Given the description of an element on the screen output the (x, y) to click on. 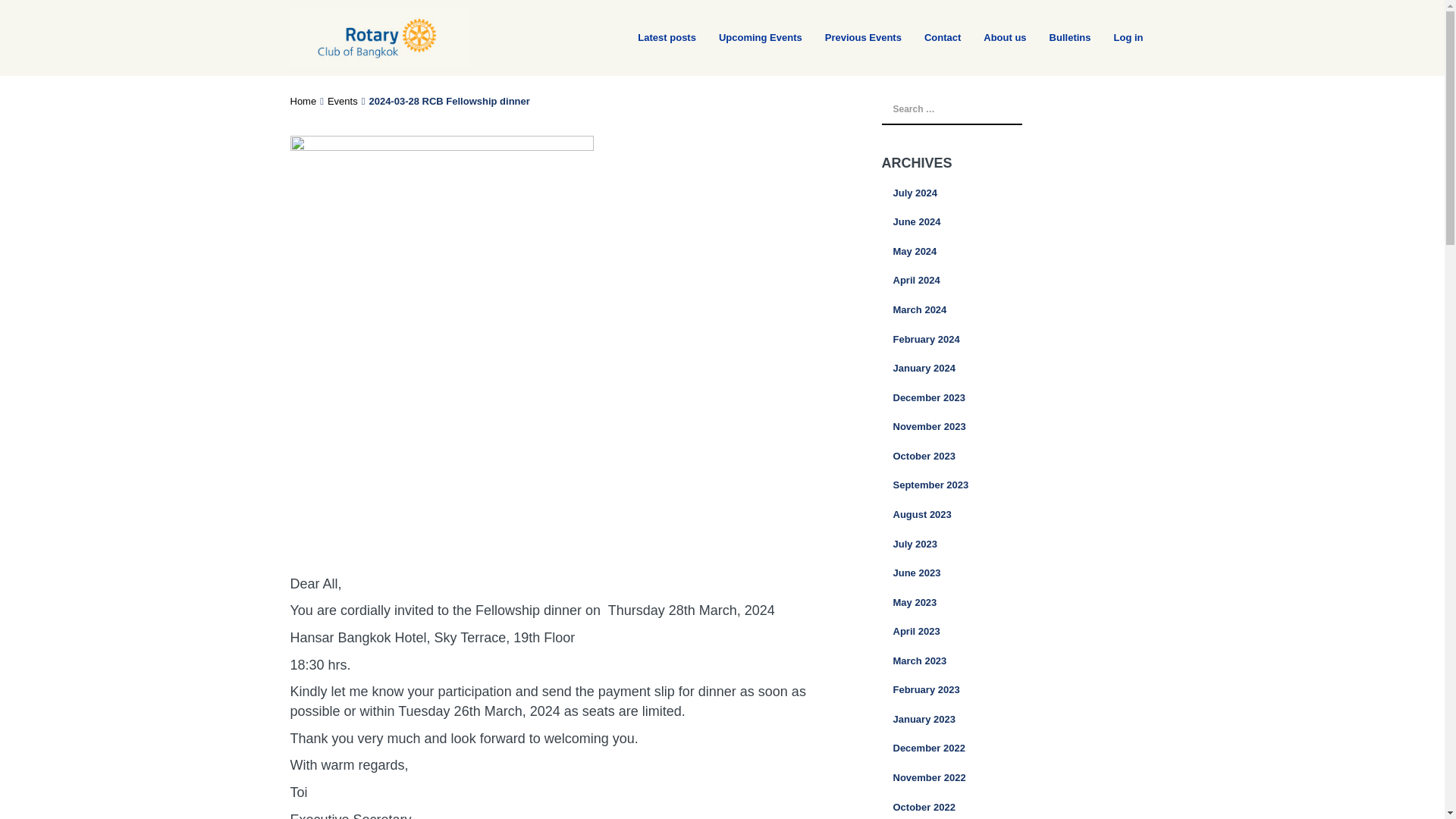
May 2023 (1017, 603)
Rotary Club of Bangkok (378, 38)
Search (26, 12)
Previous Events (851, 38)
Previous Events (851, 38)
December 2023 (1017, 398)
December 2022 (1017, 748)
Events (342, 101)
June 2023 (1017, 573)
February 2024 (1017, 339)
May 2024 (1017, 251)
October 2023 (1017, 456)
November 2022 (1017, 778)
September 2023 (1017, 485)
April 2024 (1017, 280)
